Given the description of an element on the screen output the (x, y) to click on. 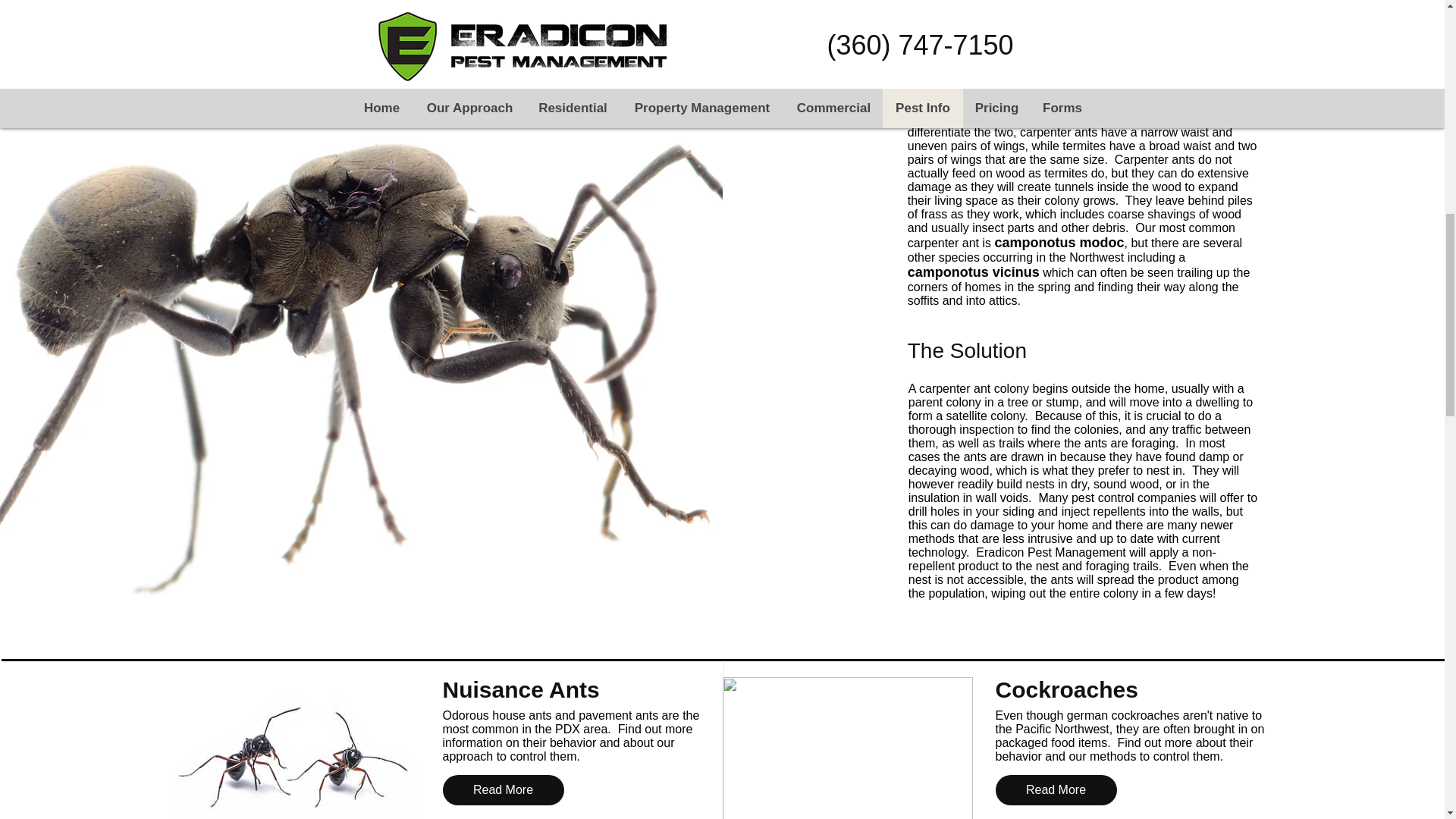
German Cockroach (847, 748)
Nuisance Ants (580, 689)
Sugar Ants (295, 748)
Read More (503, 789)
